Given the description of an element on the screen output the (x, y) to click on. 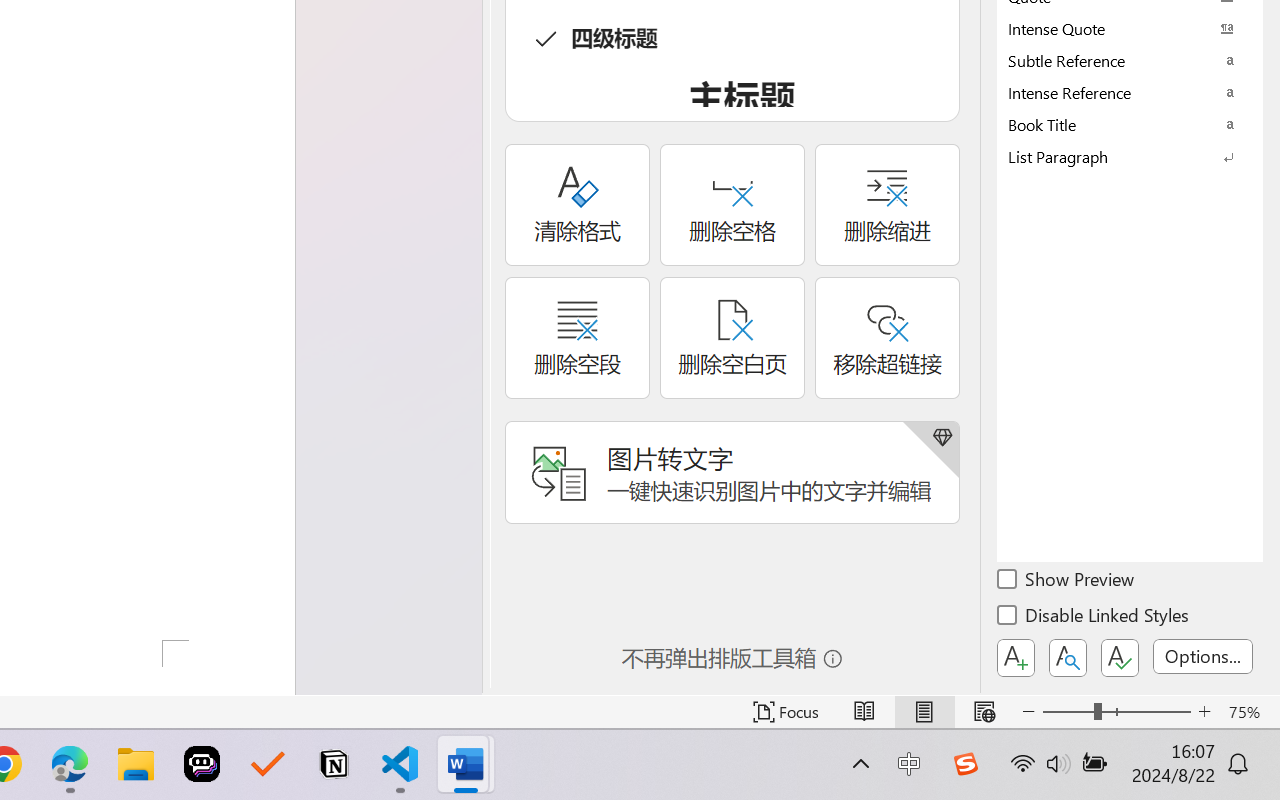
Intense Reference (1130, 92)
Read Mode (864, 712)
Zoom Out (1067, 712)
Zoom (1116, 712)
